Given the description of an element on the screen output the (x, y) to click on. 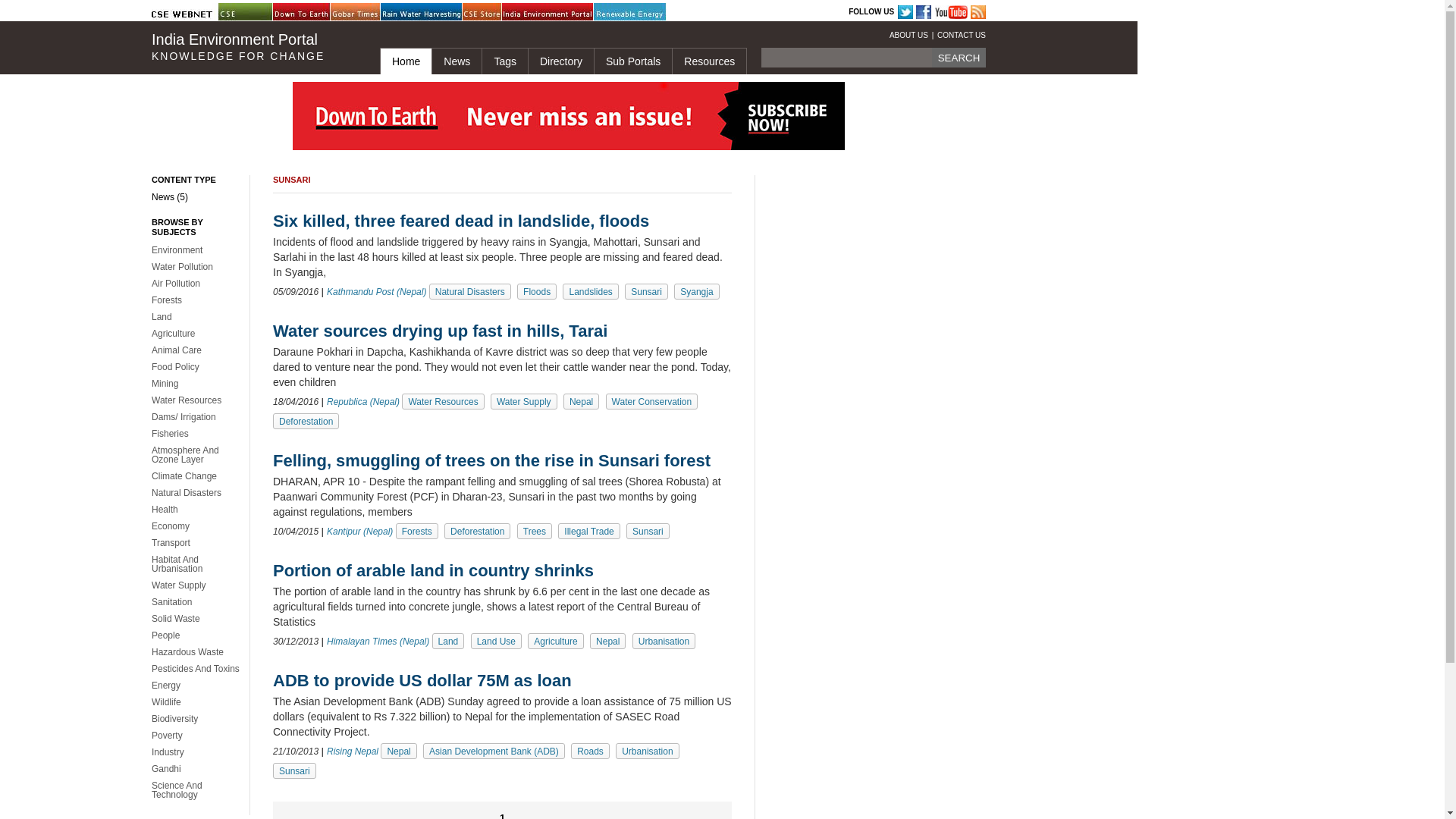
CSE Store (500, 11)
India Environment Portal KNOWLEDGE FOR CHANGE (253, 46)
Sub Portals (632, 60)
Renewable Energy (631, 11)
News (455, 60)
Resources (708, 60)
Directory (560, 60)
Tags (504, 60)
Home (405, 60)
Gobar Times (368, 11)
